Given the description of an element on the screen output the (x, y) to click on. 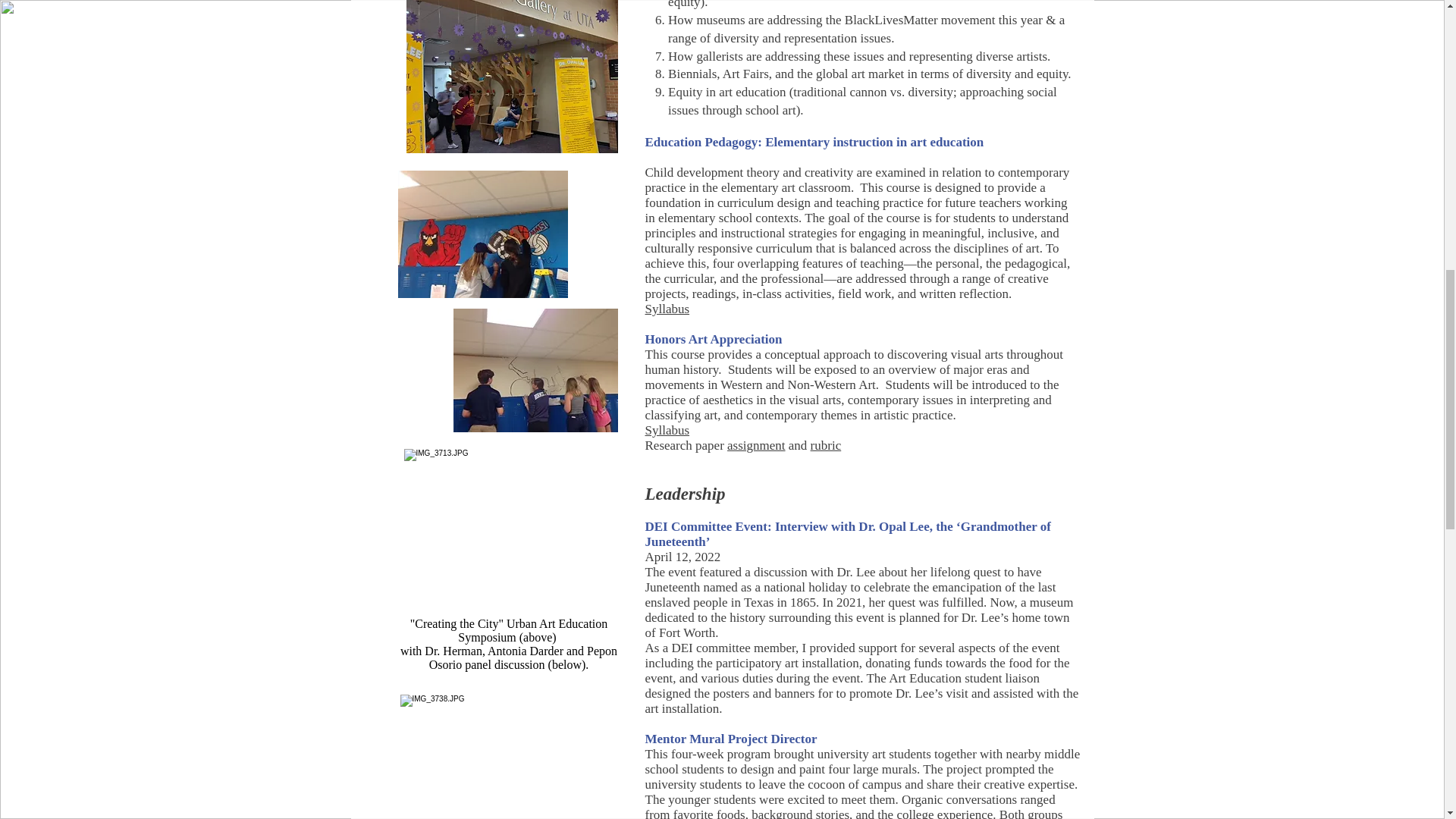
rubric (825, 445)
Syllabus (666, 430)
Opal Lee 1.jpg (511, 76)
assignment (756, 445)
Syllabus (666, 309)
